Given the description of an element on the screen output the (x, y) to click on. 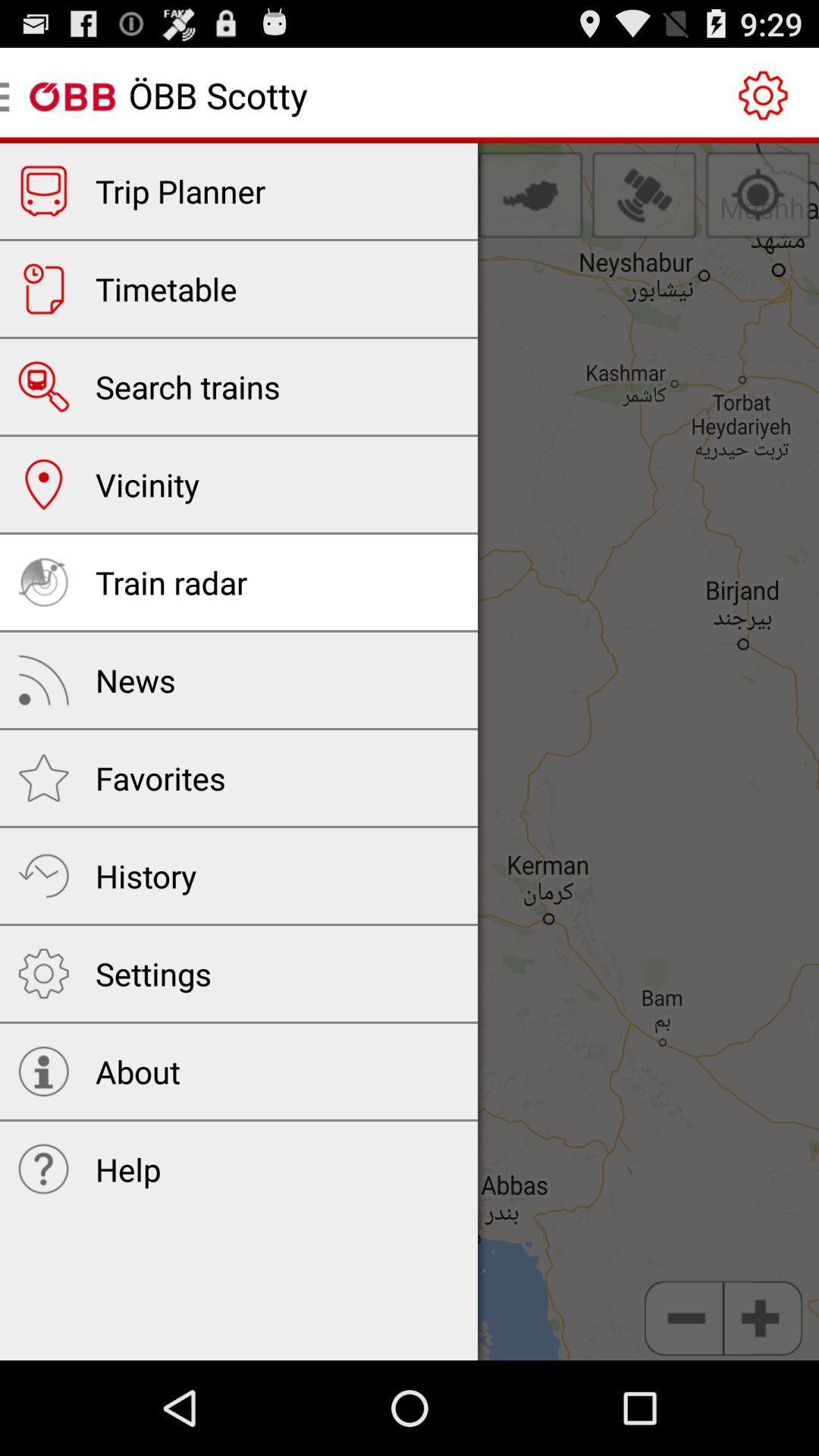
turn on app to the right of trip planner item (530, 194)
